Given the description of an element on the screen output the (x, y) to click on. 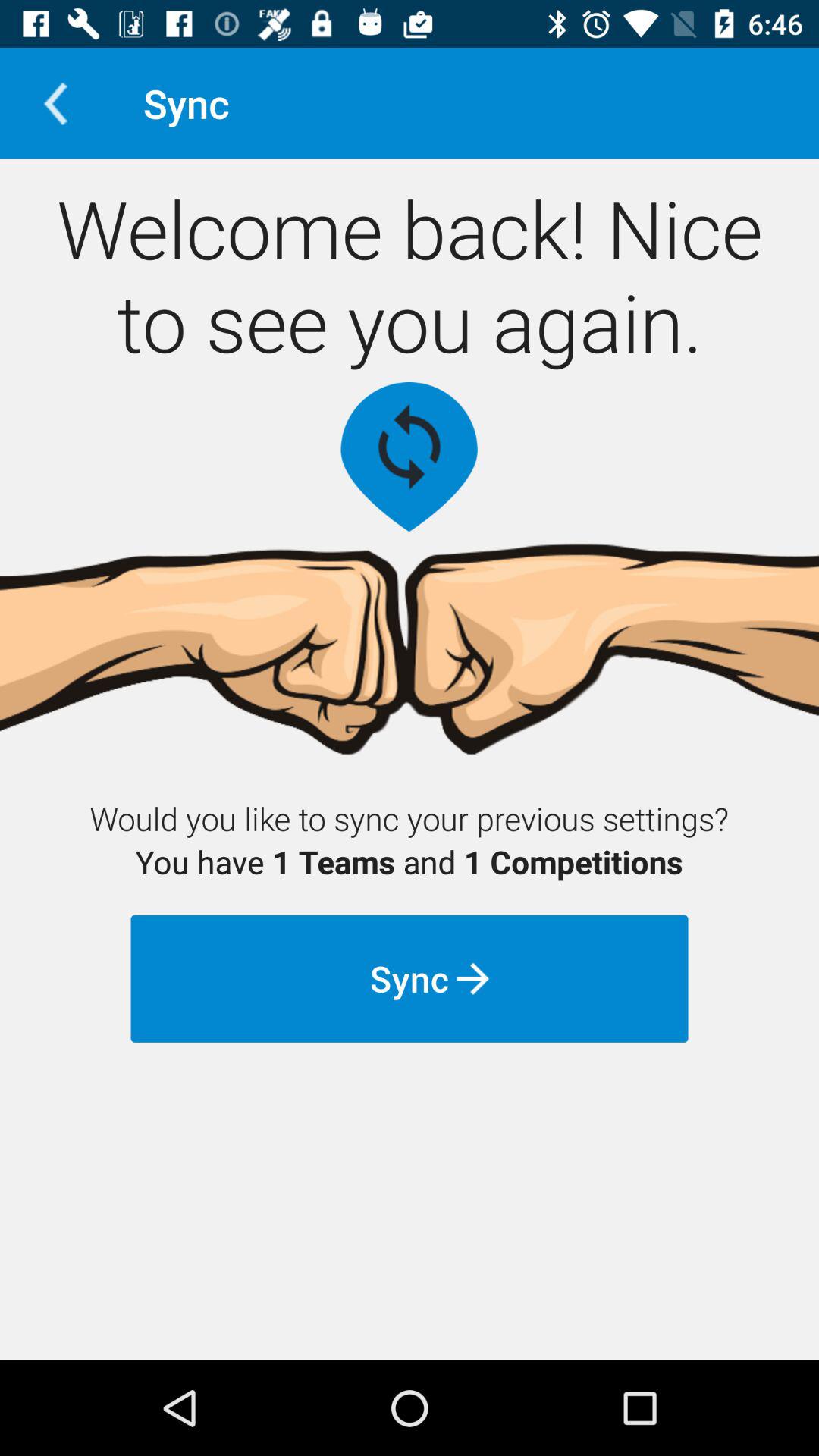
go back (55, 103)
